Given the description of an element on the screen output the (x, y) to click on. 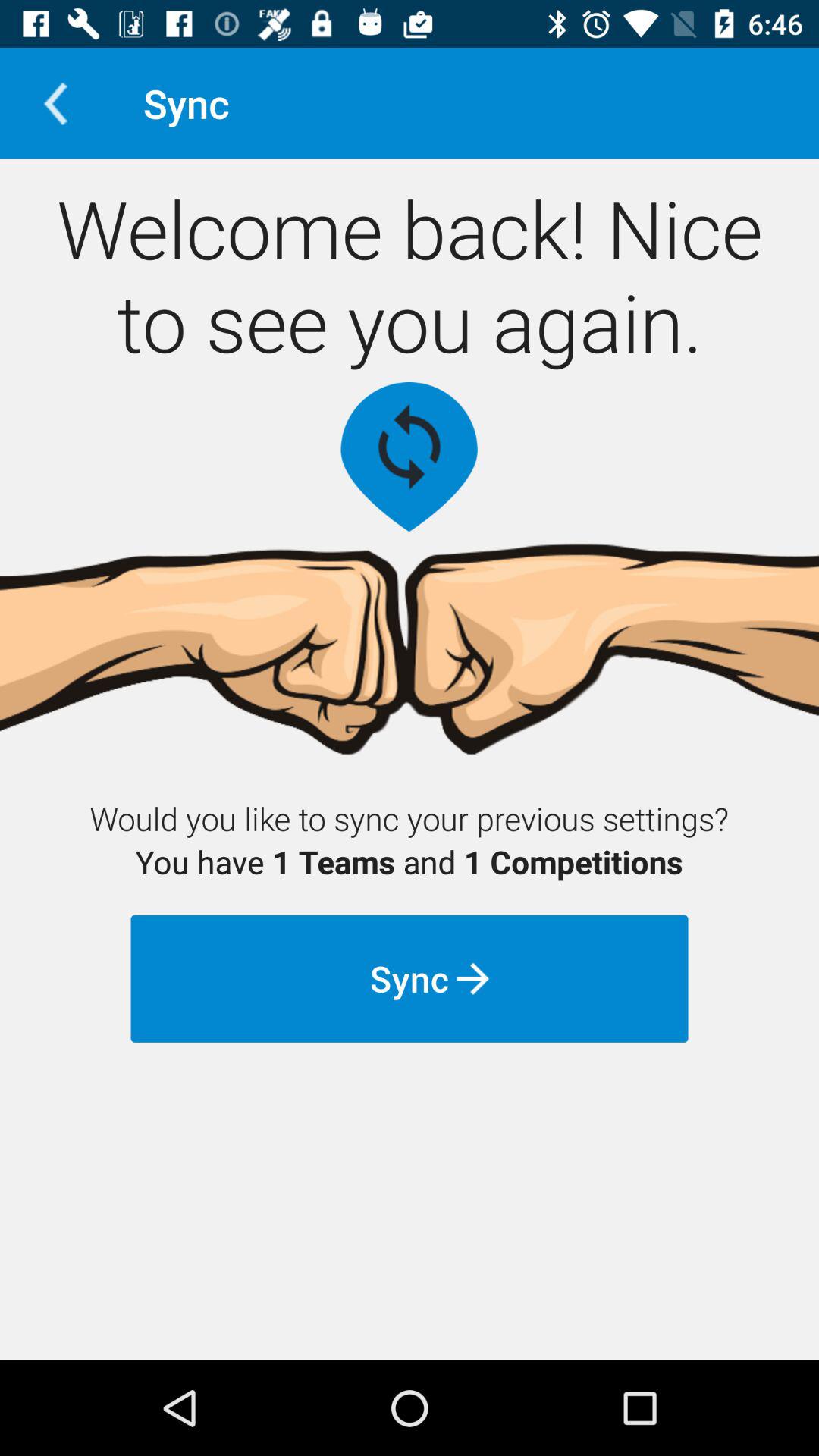
go back (55, 103)
